Given the description of an element on the screen output the (x, y) to click on. 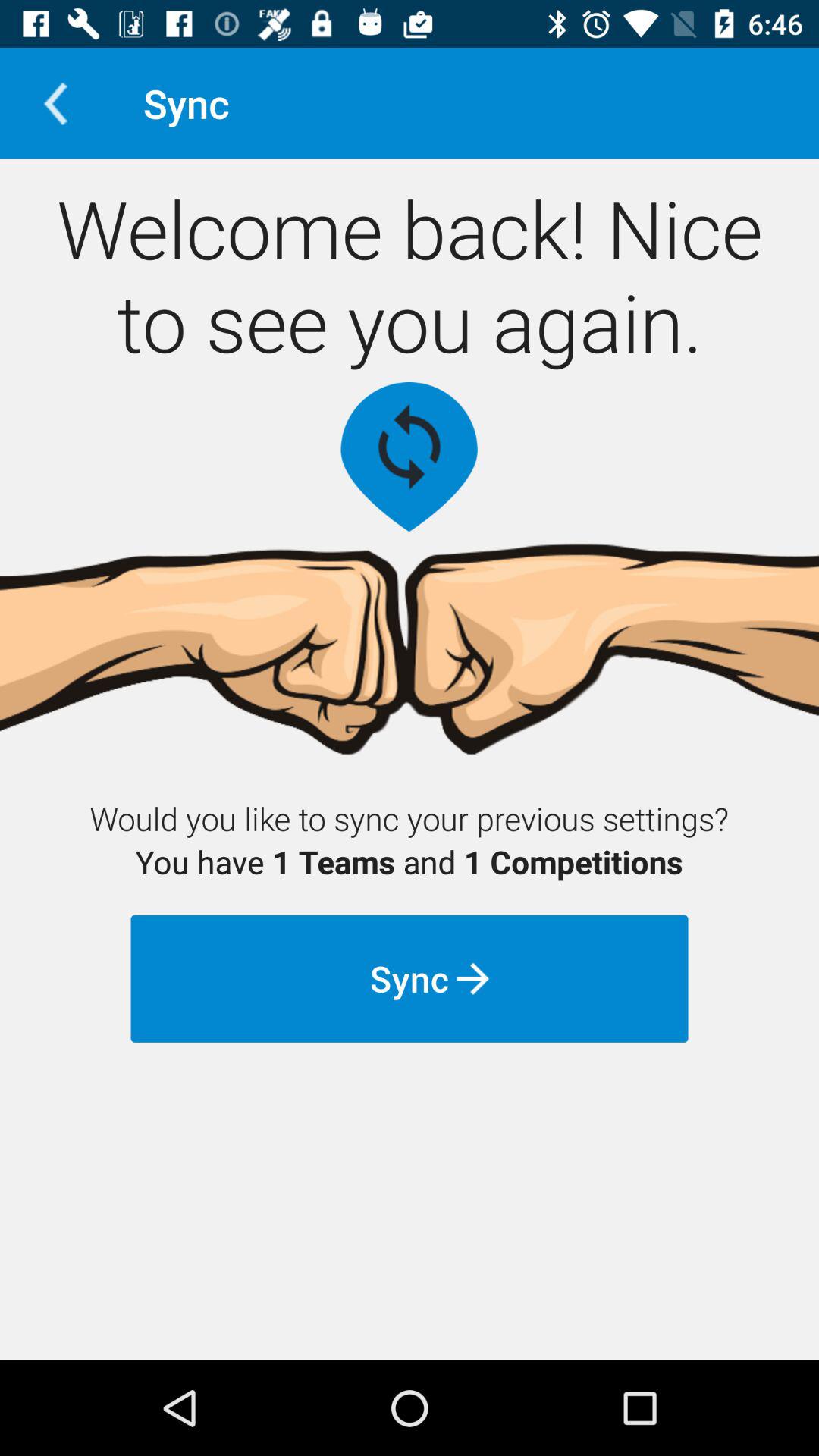
go back (55, 103)
